Given the description of an element on the screen output the (x, y) to click on. 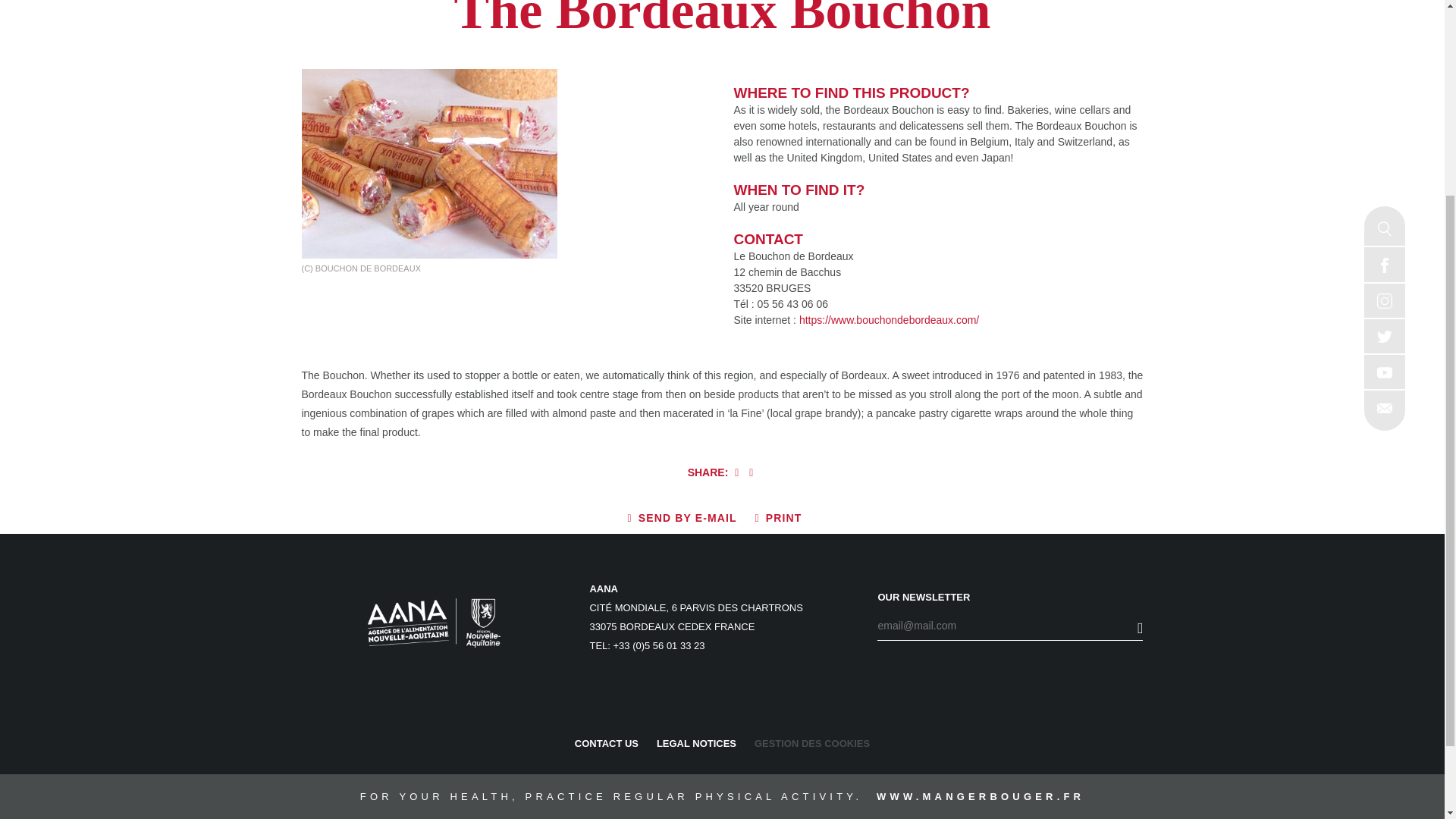
CONTACT US (607, 743)
PRINT (778, 518)
SEND BY E-MAIL (681, 518)
GESTION DES COOKIES (811, 743)
LEGAL NOTICES (696, 743)
WWW.MANGERBOUGER.FR (980, 796)
